Given the description of an element on the screen output the (x, y) to click on. 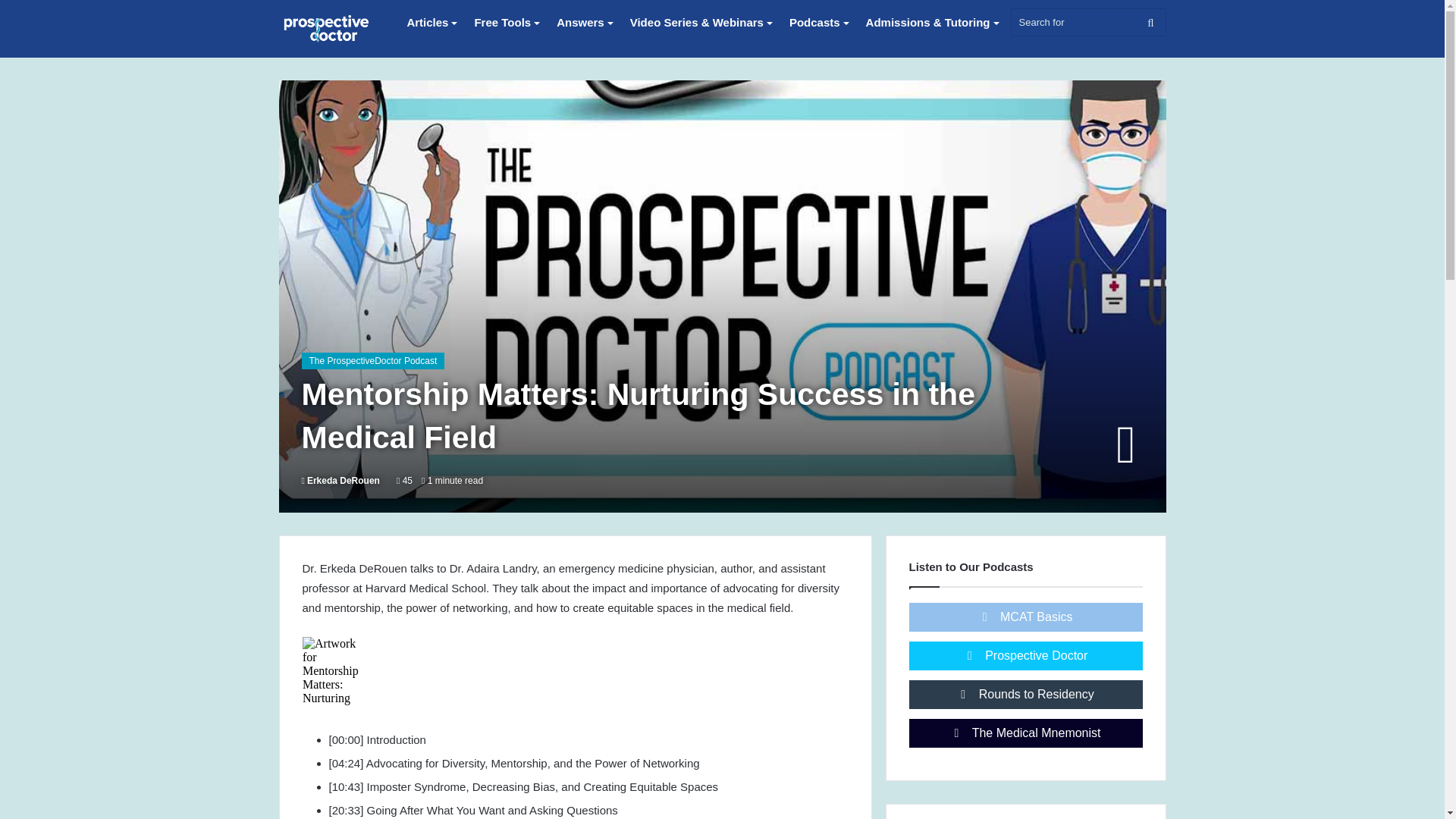
Search for (1088, 22)
Libsyn Player (574, 671)
Answers (580, 22)
Articles (427, 22)
Erkeda DeRouen (340, 480)
ProspectiveDoctor (327, 28)
Free Tools (502, 22)
